Given the description of an element on the screen output the (x, y) to click on. 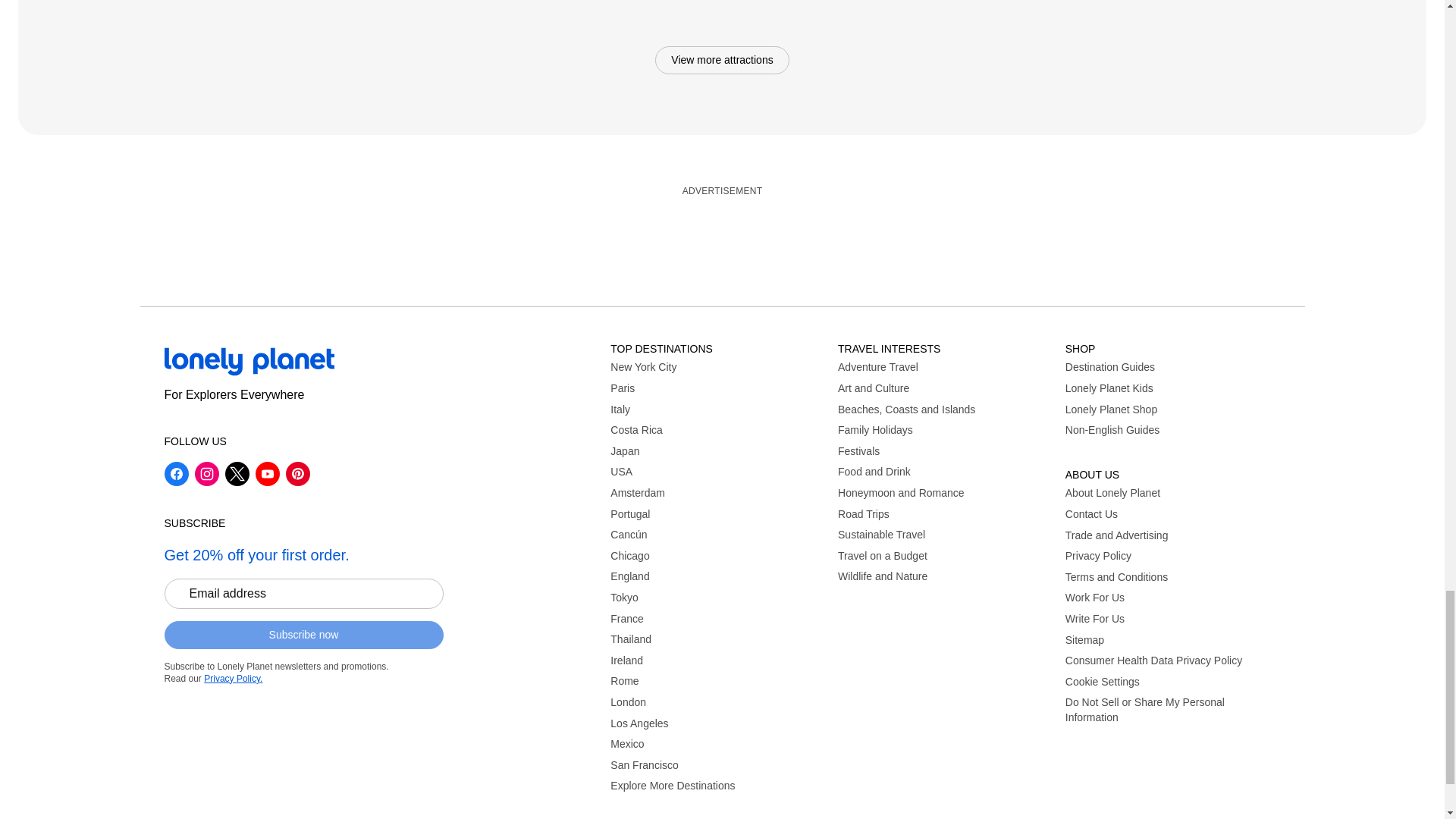
3rd party ad content (721, 238)
